Given the description of an element on the screen output the (x, y) to click on. 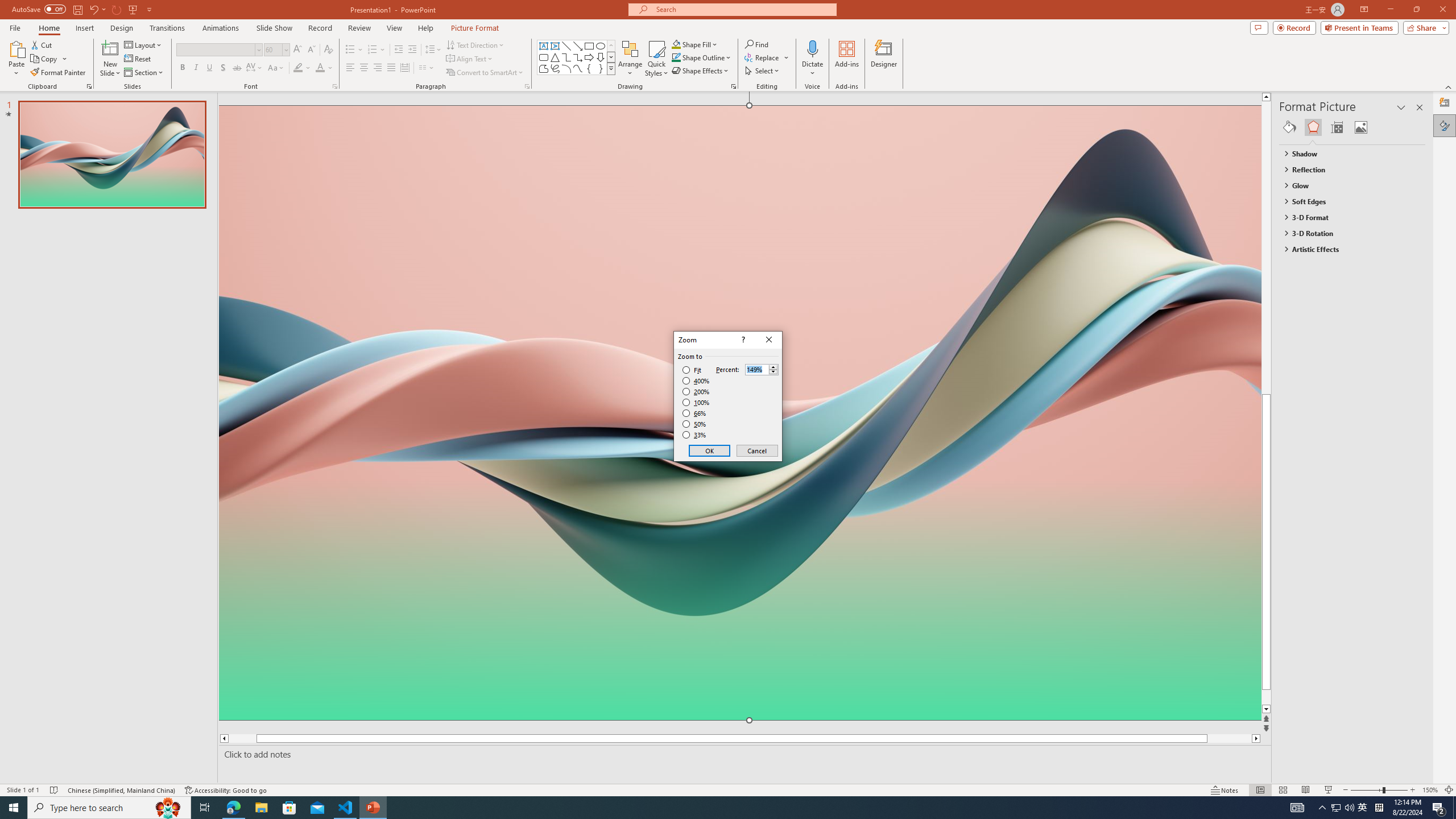
Dictate (812, 58)
Search highlights icon opens search home window (167, 807)
Task View (204, 807)
Reset (138, 58)
Format Painter (58, 72)
Line Spacing (433, 49)
Decrease Font Size (310, 49)
Find... (756, 44)
Class: NetUIImage (610, 68)
Font Color Red (320, 67)
Line (566, 45)
50% (694, 424)
